Given the description of an element on the screen output the (x, y) to click on. 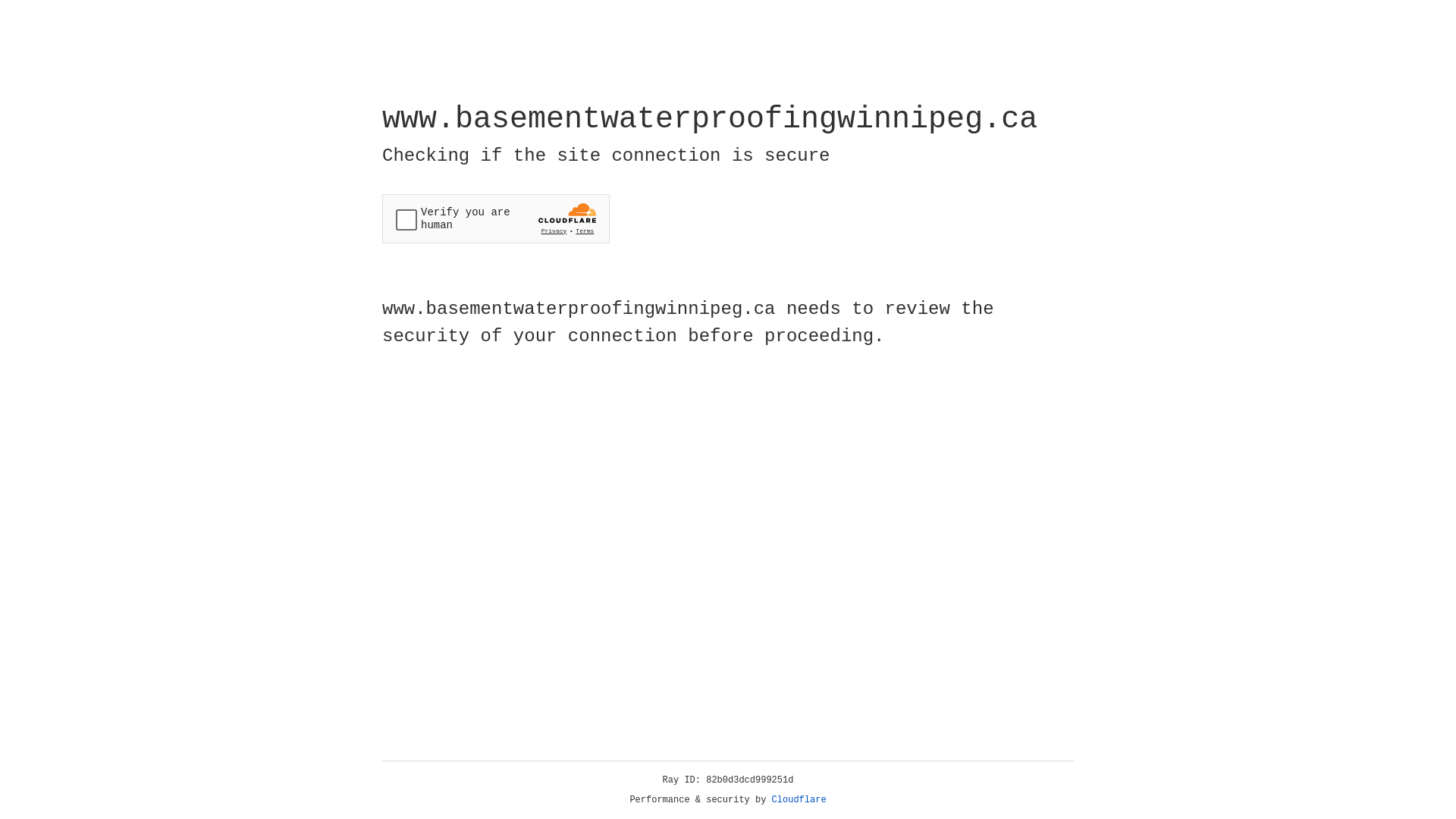
Widget containing a Cloudflare security challenge Element type: hover (495, 218)
Cloudflare Element type: text (798, 799)
